Given the description of an element on the screen output the (x, y) to click on. 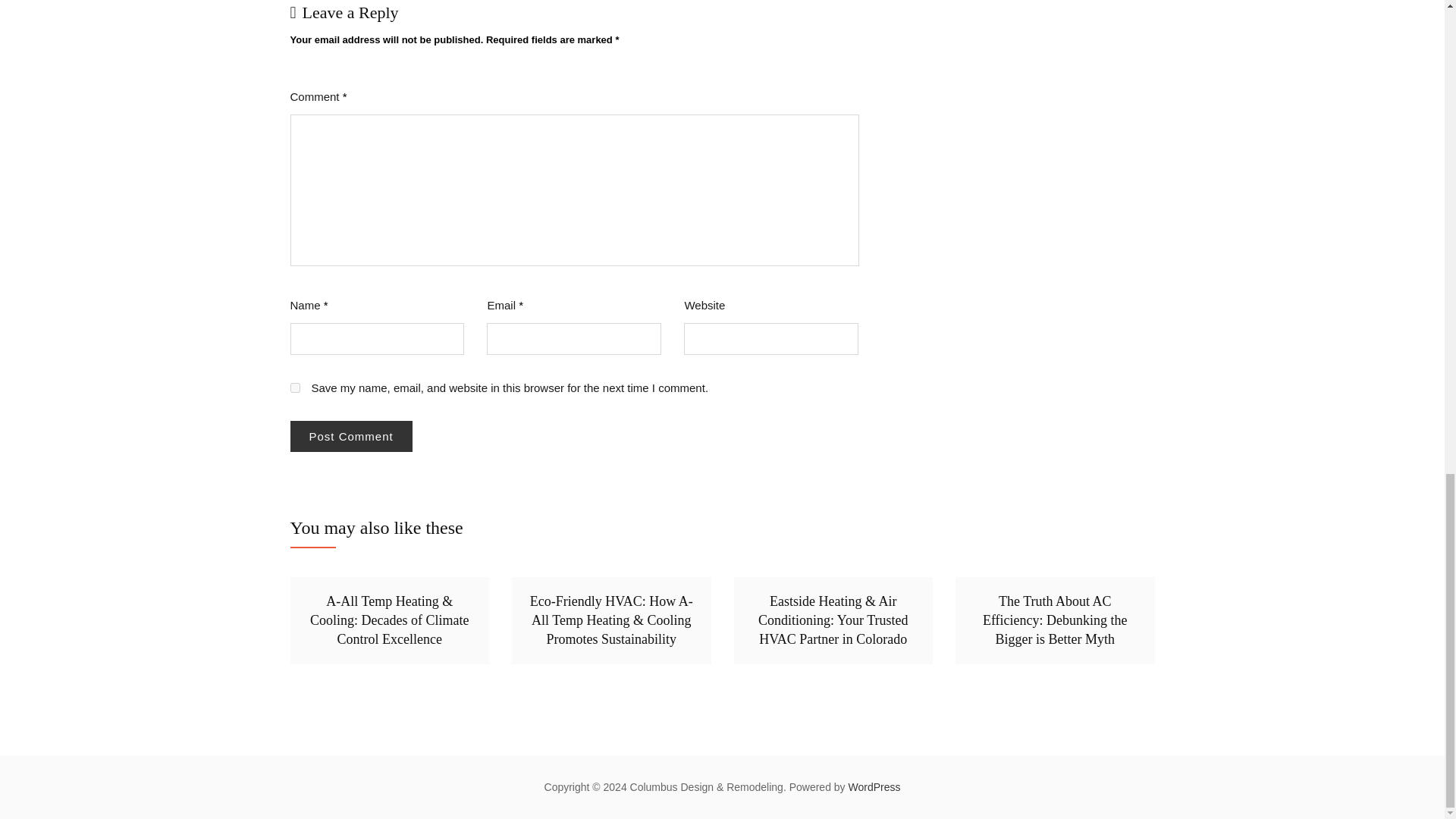
yes (294, 388)
Post Comment (350, 436)
Post Comment (350, 436)
